Given the description of an element on the screen output the (x, y) to click on. 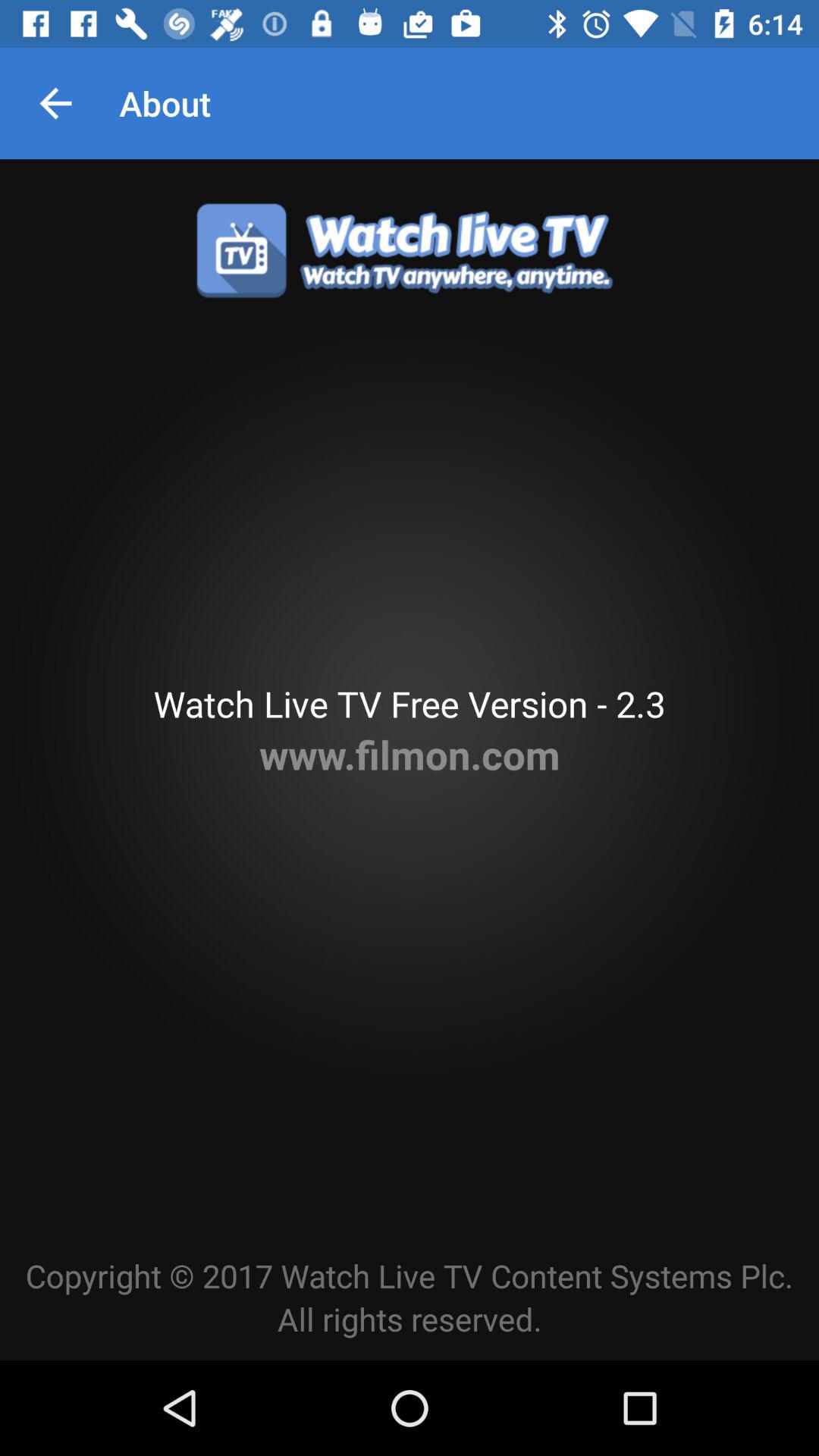
press app next to about app (55, 103)
